Given the description of an element on the screen output the (x, y) to click on. 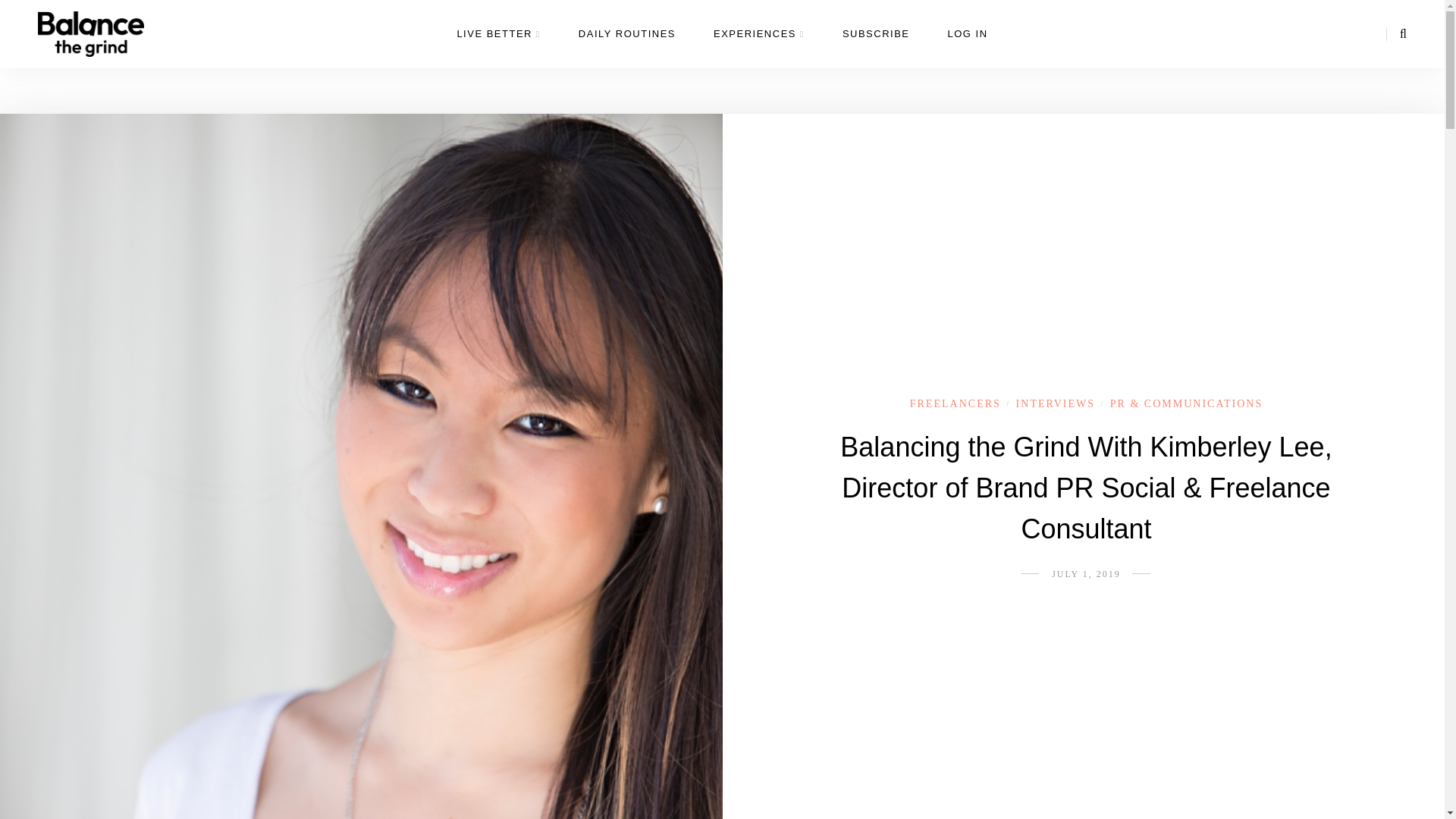
EXPERIENCES (759, 45)
DAILY ROUTINES (626, 45)
LIVE BETTER (498, 45)
